Given the description of an element on the screen output the (x, y) to click on. 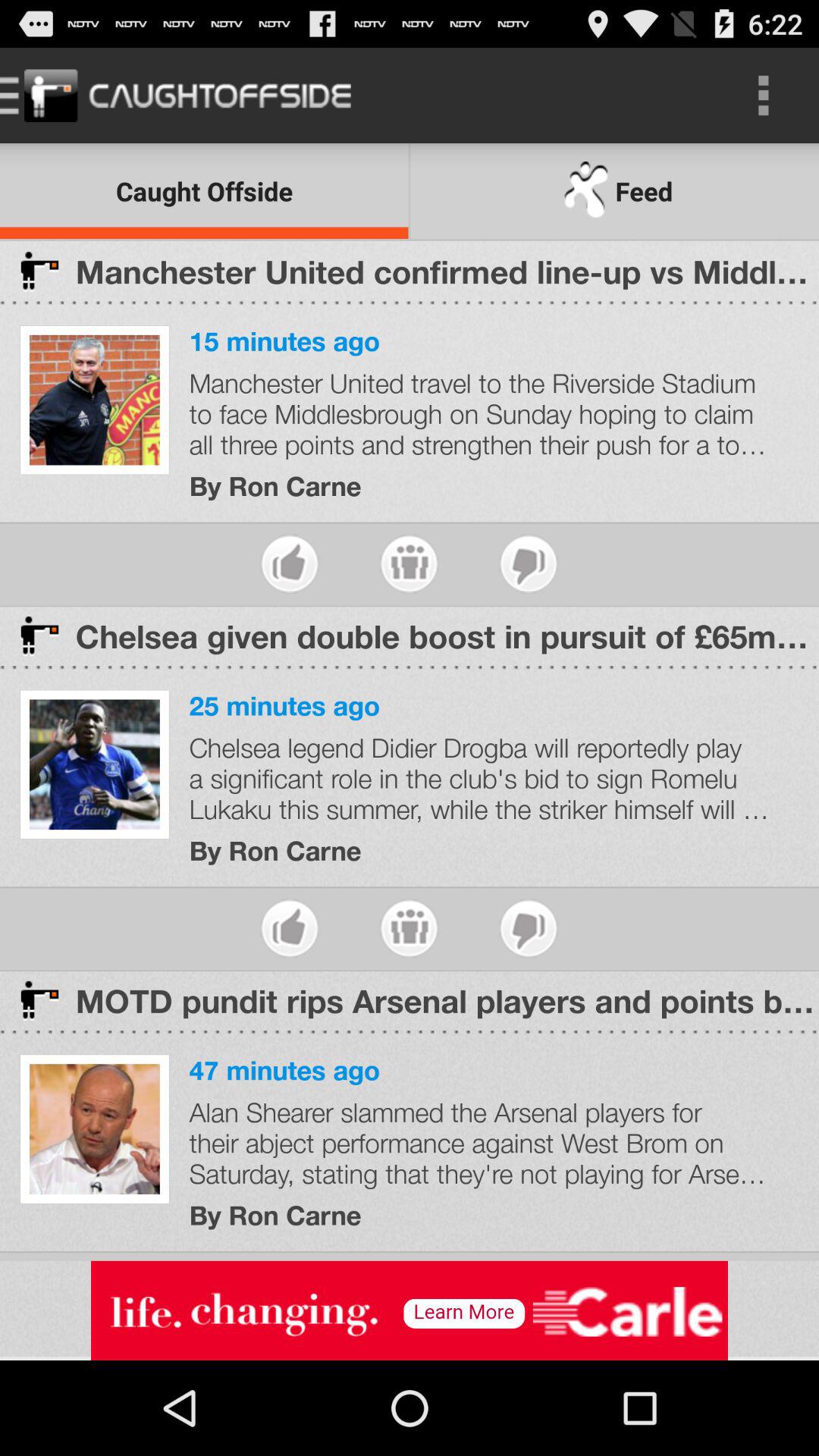
thumbs down (528, 563)
